Given the description of an element on the screen output the (x, y) to click on. 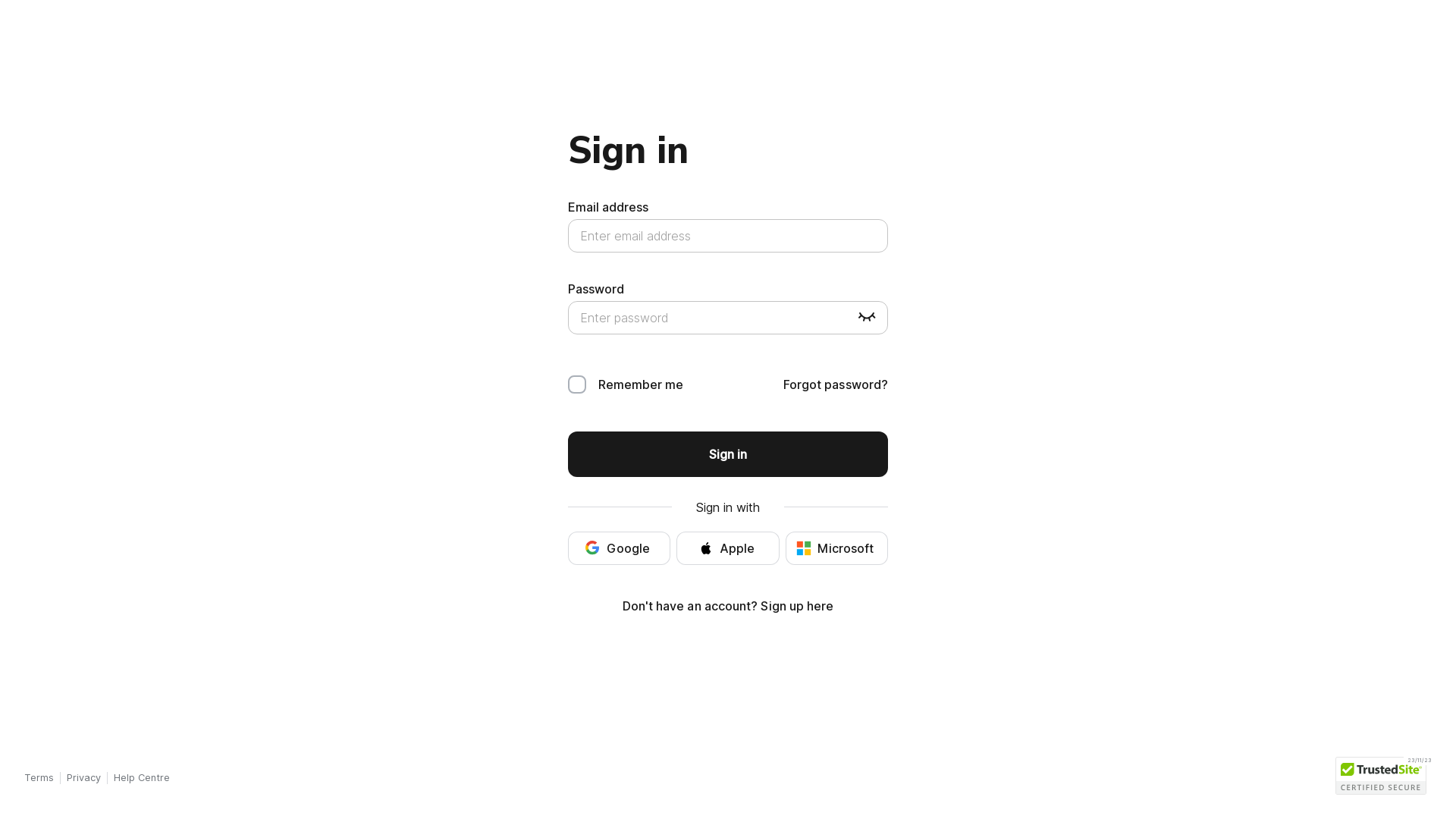
Sign in Element type: text (727, 453)
Microsoft Element type: text (836, 547)
Apple Element type: text (727, 547)
Privacy Element type: text (83, 777)
23/11/23 Element type: text (1380, 775)
Forgot password? Element type: text (835, 384)
Help Centre Element type: text (141, 777)
Reveal password Element type: hover (866, 317)
Terms Element type: text (38, 777)
Google Element type: text (618, 547)
Sign up here Element type: text (796, 605)
